Given the description of an element on the screen output the (x, y) to click on. 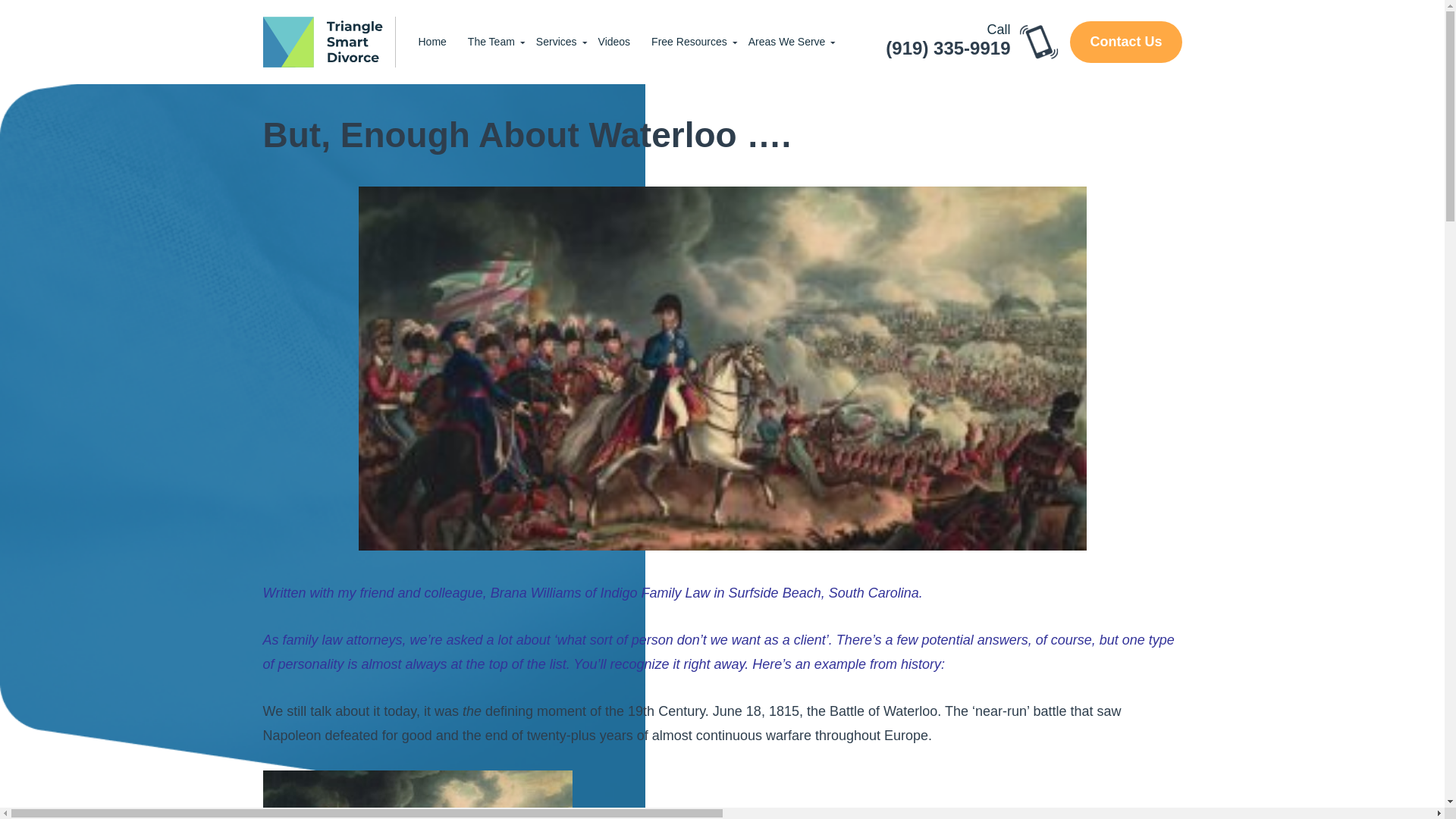
Home (432, 41)
Services (556, 41)
Videos (615, 41)
Free Resources (689, 41)
The Team (491, 41)
